Given the description of an element on the screen output the (x, y) to click on. 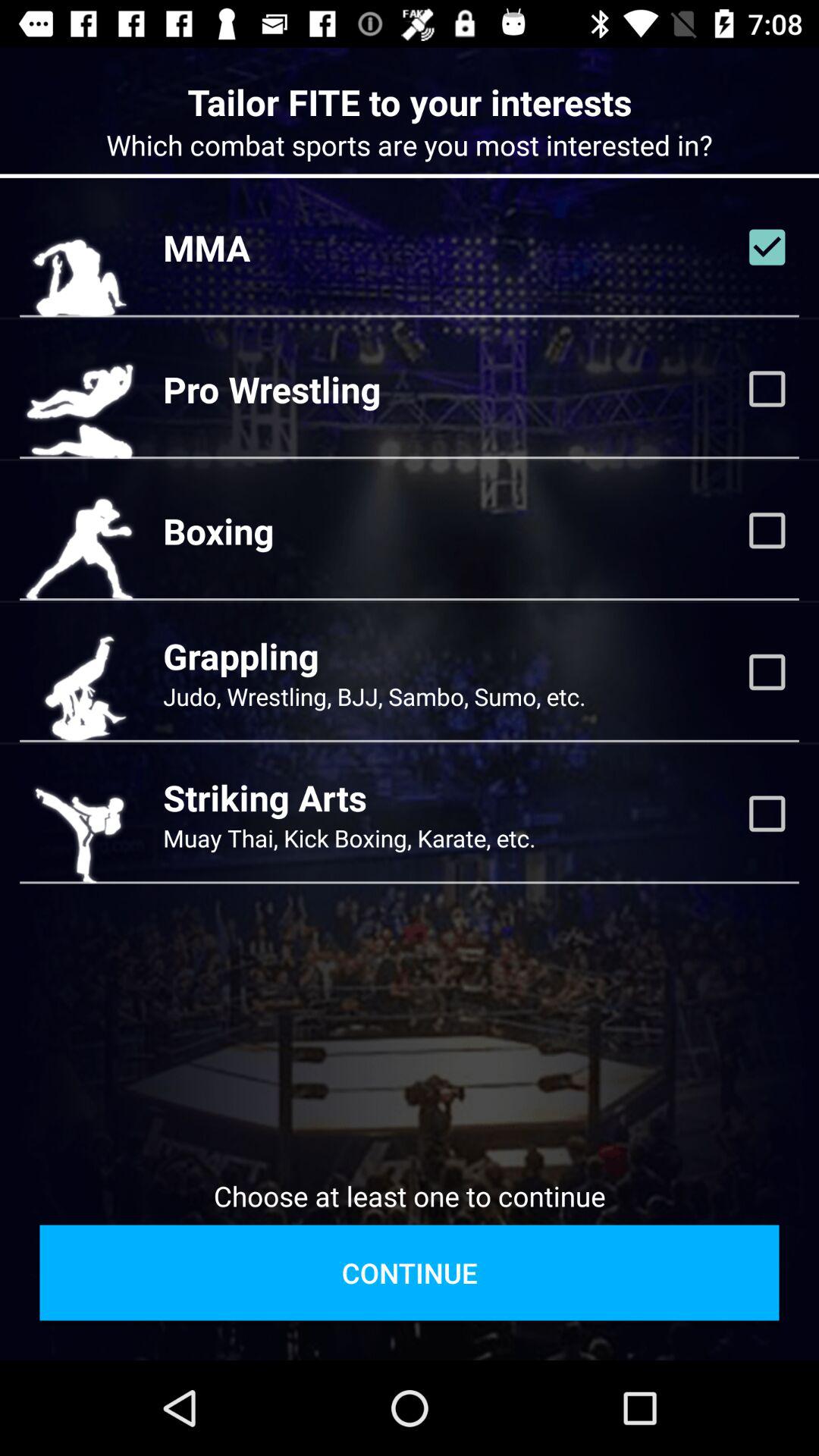
click item above the muay thai kick icon (264, 797)
